Given the description of an element on the screen output the (x, y) to click on. 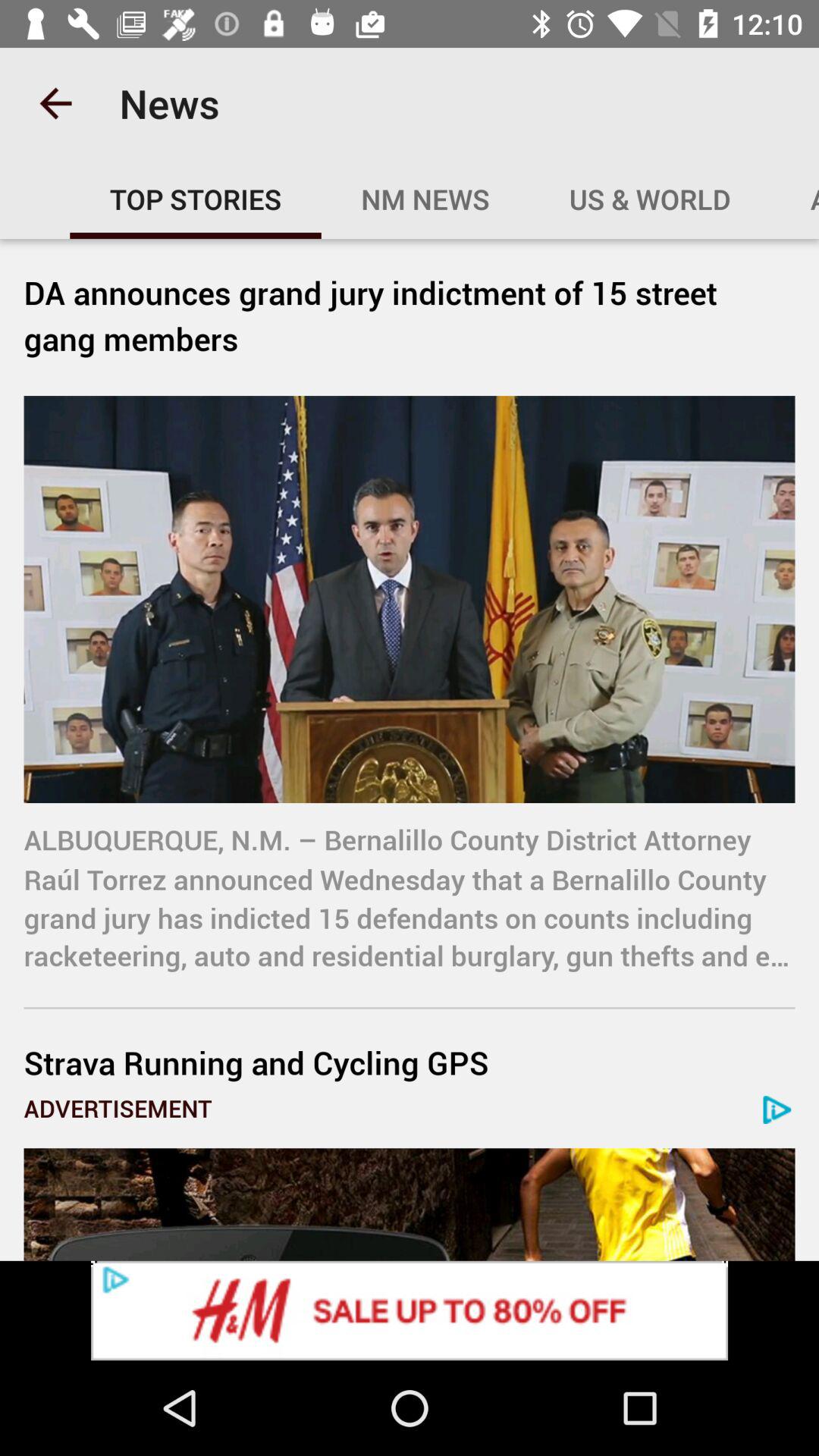
turn off item next to news icon (55, 103)
